Given the description of an element on the screen output the (x, y) to click on. 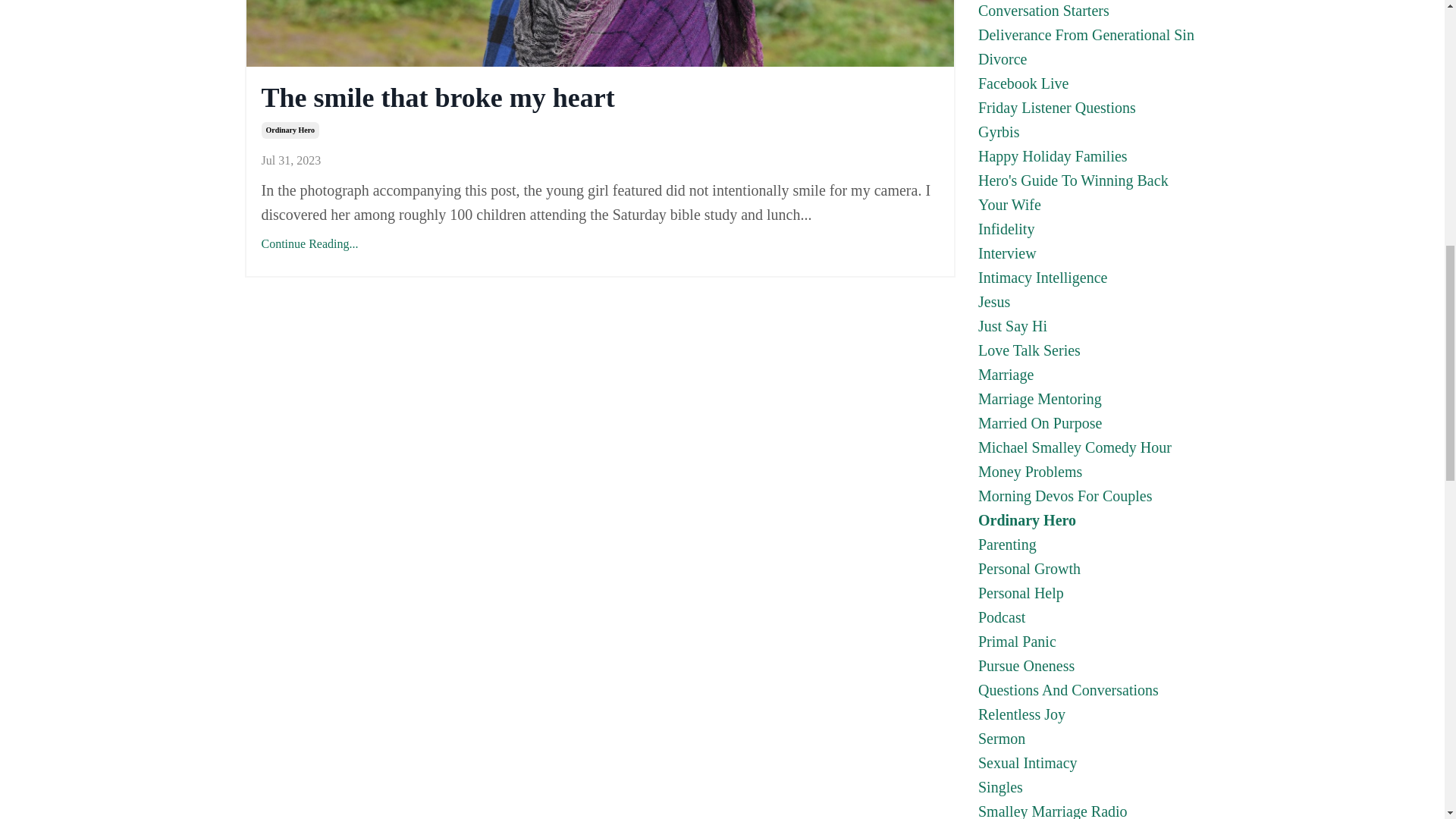
Happy Holiday Families (1088, 156)
Ordinary Hero (289, 130)
Facebook Live (1088, 83)
Infidelity (1088, 228)
Divorce (1088, 58)
Gyrbis (1088, 131)
Interview (1088, 252)
Friday Listener Questions (1088, 107)
Marriage Mentoring (1088, 398)
Love Talk Series (1088, 350)
Married On Purpose (1088, 422)
Money Problems (1088, 471)
Morning Devos For Couples (1088, 495)
Michael Smalley Comedy Hour (1088, 446)
Jesus (1088, 301)
